Given the description of an element on the screen output the (x, y) to click on. 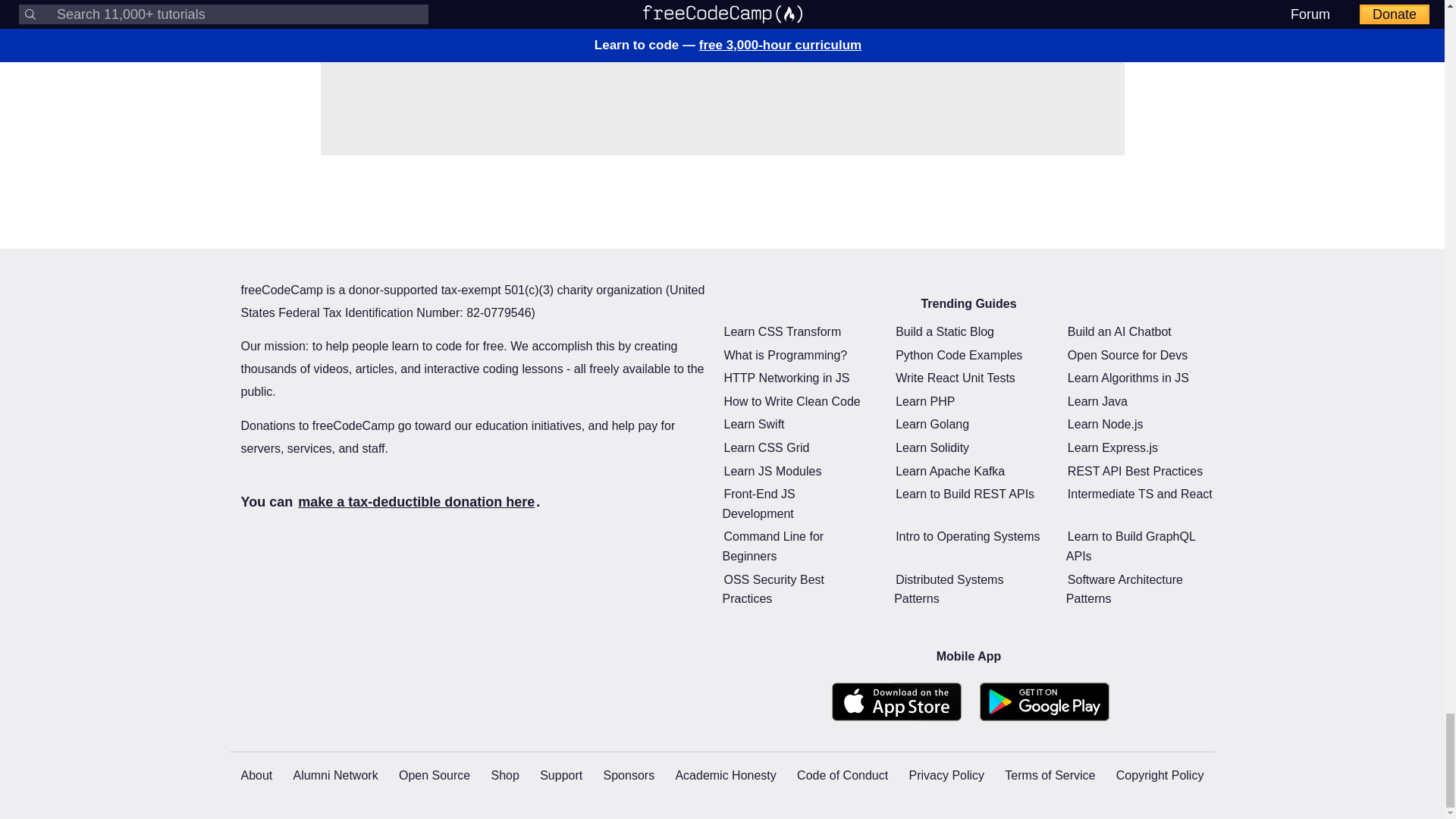
Build an AI Chatbot (1119, 331)
Build a Static Blog (944, 331)
What is Programming? (785, 355)
Python Code Examples (958, 355)
make a tax-deductible donation here (416, 502)
Open Source for Devs (1127, 355)
Learn CSS Transform (782, 331)
